Given the description of an element on the screen output the (x, y) to click on. 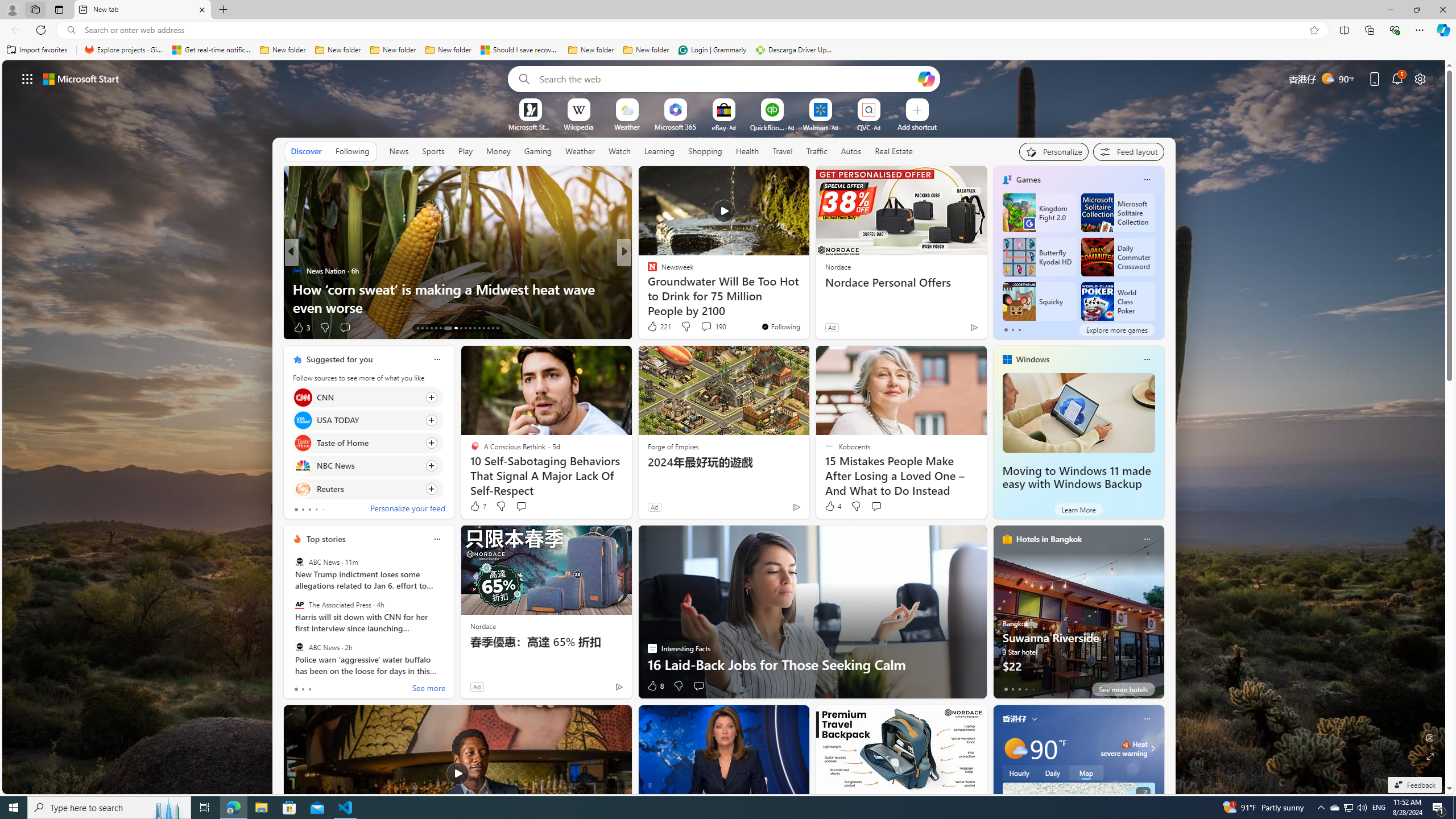
221 Like (658, 326)
CNN (302, 397)
Class: sd-card-game-item-img-inner (1096, 301)
USA TODAY (302, 419)
AutomationID: tab-21 (460, 328)
Personal Profile (12, 9)
AutomationID: tab-25 (478, 328)
Suggested for you (338, 359)
NBC News (302, 466)
Click to follow source NBC News (367, 465)
Back (13, 29)
Nordace (483, 625)
New tab (142, 9)
